Given the description of an element on the screen output the (x, y) to click on. 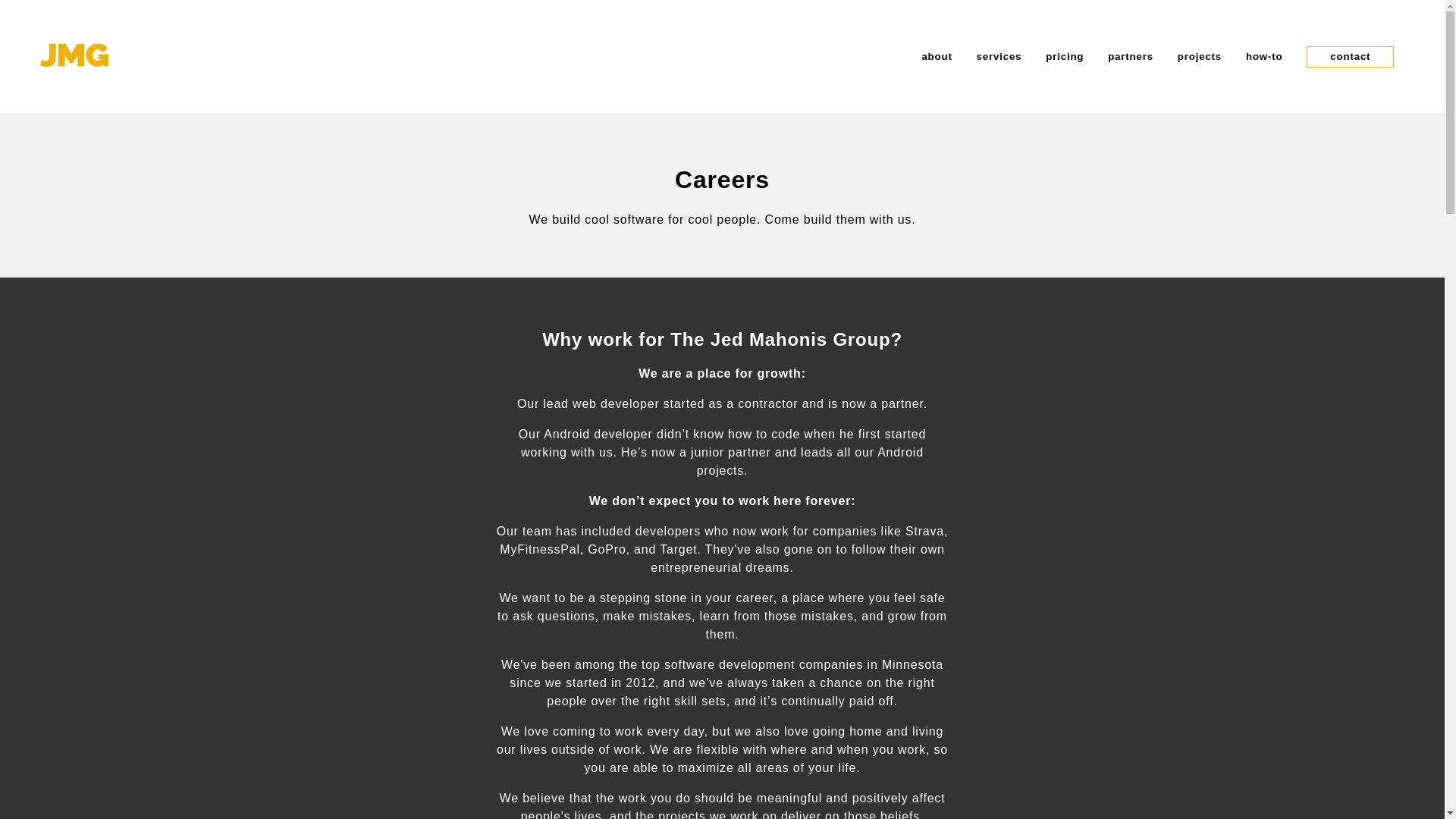
how-to (1264, 56)
about (936, 56)
contact (1349, 56)
projects (1199, 56)
partners (1130, 56)
pricing (1064, 56)
services (999, 56)
